Given the description of an element on the screen output the (x, y) to click on. 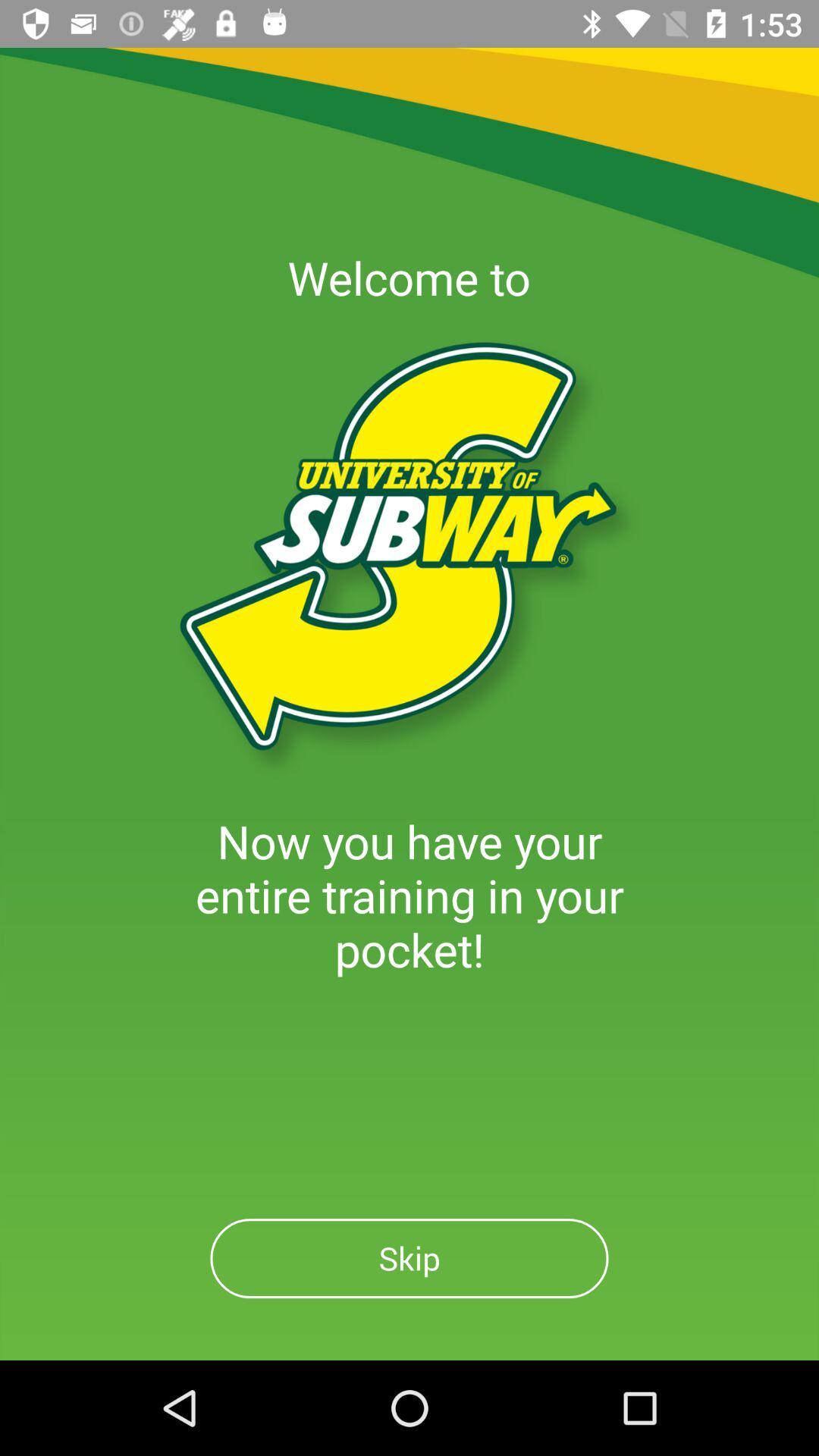
click skip button (409, 1258)
